Given the description of an element on the screen output the (x, y) to click on. 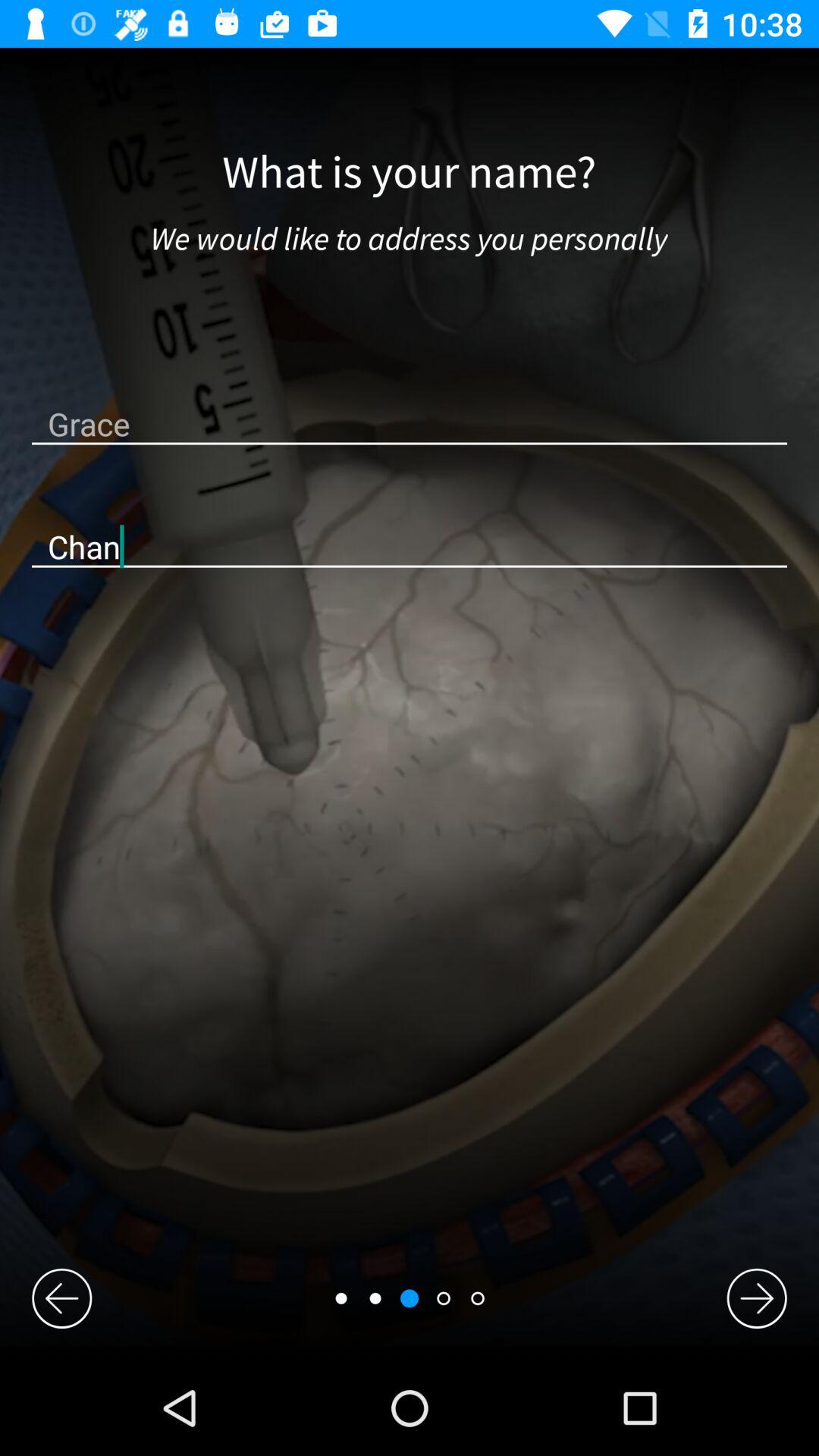
turn off what is your (409, 173)
